Given the description of an element on the screen output the (x, y) to click on. 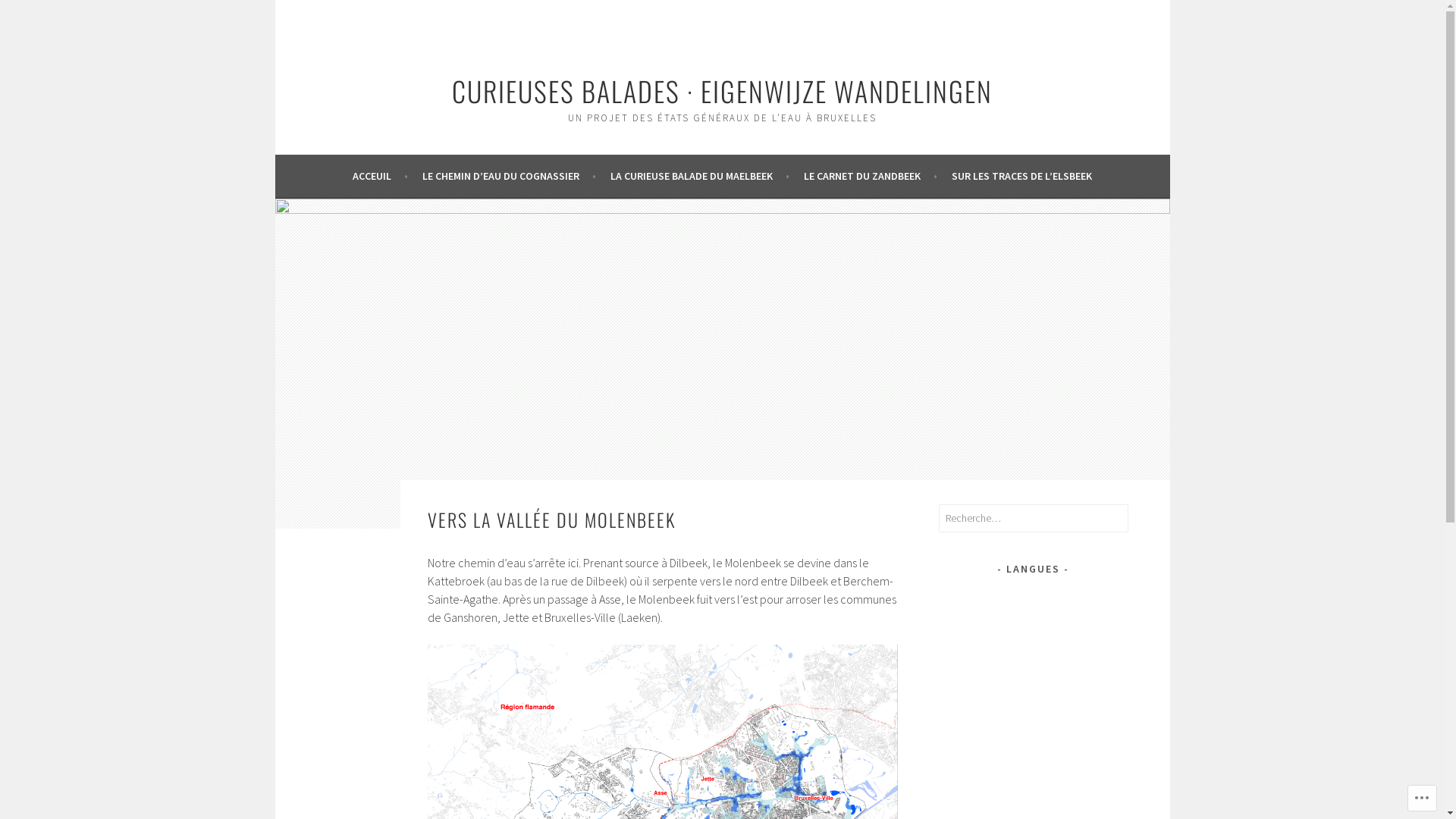
Rechercher Element type: text (37, 13)
LA CURIEUSE BALADE DU MAELBEEK Element type: text (699, 175)
ACCEUIL Element type: text (379, 175)
LE CARNET DU ZANDBEEK Element type: text (870, 175)
